Given the description of an element on the screen output the (x, y) to click on. 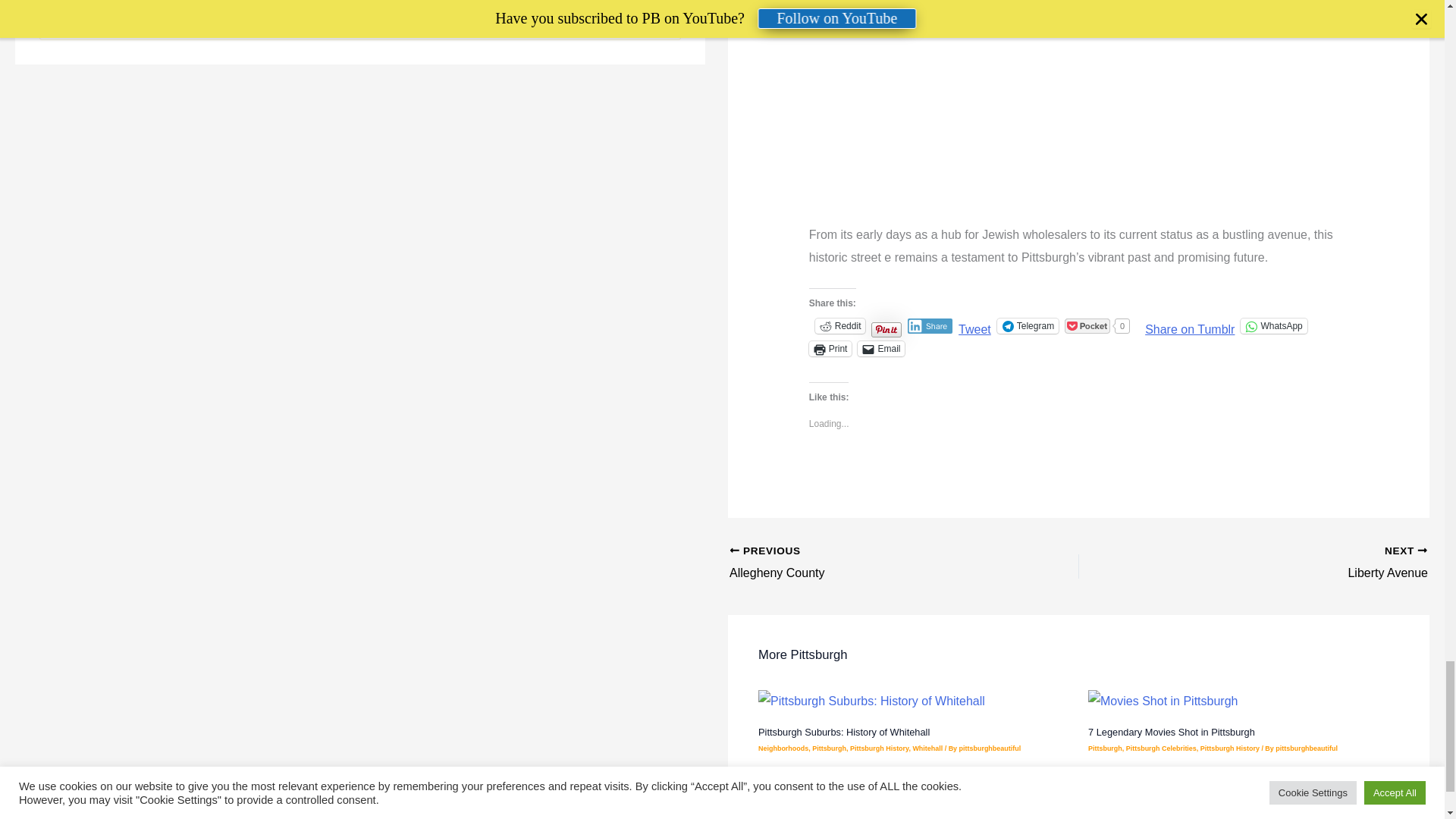
Click to print (830, 348)
Click to share on Telegram (1027, 325)
View all posts by pittsburghbeautiful (990, 748)
Click to email a link to a friend (880, 348)
Click to share on WhatsApp (1273, 325)
Liberty Avenue (1287, 563)
Click to share on Reddit (840, 325)
Allegheny County (869, 563)
Share on Tumblr (1189, 325)
